Given the description of an element on the screen output the (x, y) to click on. 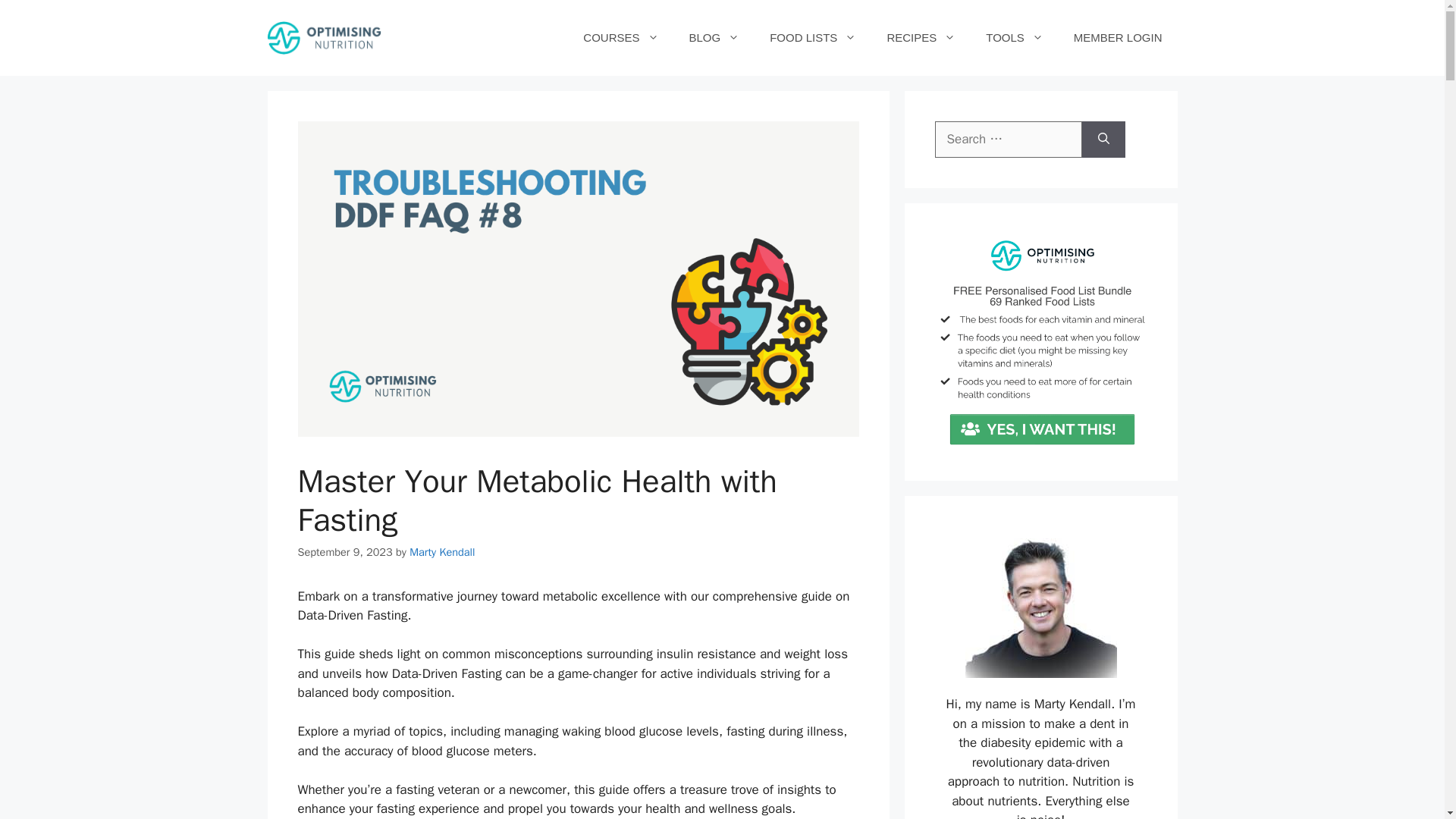
BLOG (713, 37)
View all posts by Marty Kendall (441, 551)
COURSES (619, 37)
FOOD LISTS (812, 37)
Search for: (1007, 139)
